Given the description of an element on the screen output the (x, y) to click on. 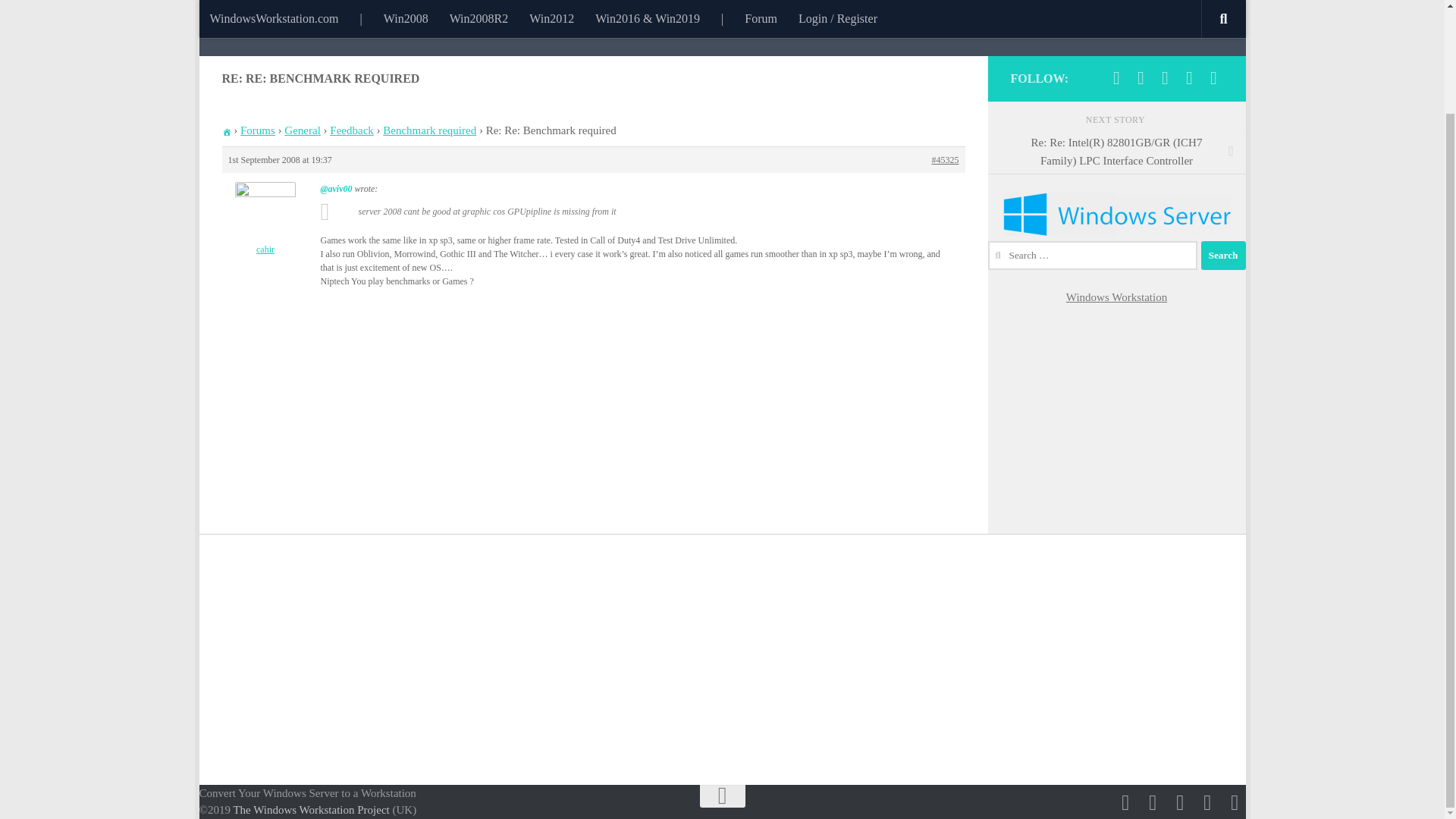
Follow us on Facebook (1125, 803)
Follow us on Facebook (1115, 77)
The WindowsWorkstation.com Forum (476, 5)
Search (1223, 255)
Feedback (351, 130)
Search (1223, 255)
Forums (257, 130)
Follow us on Twitter (1140, 77)
Powered by Wordpress (1213, 77)
Microsoft Windows Server (1188, 77)
cahir (264, 218)
Search (1223, 255)
Benchmark required (429, 130)
E-Mail Us (1164, 77)
